Given the description of an element on the screen output the (x, y) to click on. 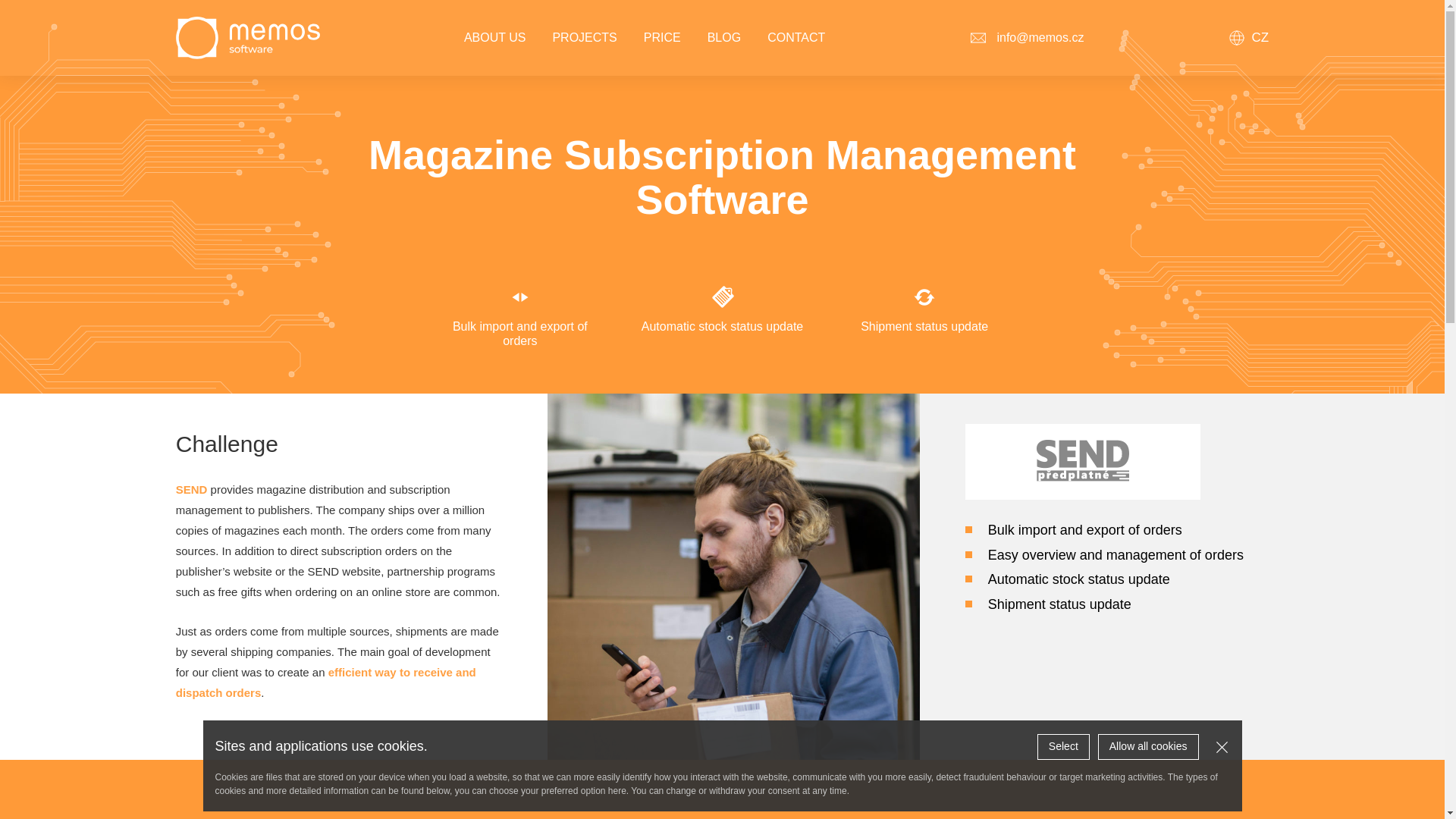
Allow all cookies (1147, 746)
BLOG (724, 37)
ABOUT US (494, 37)
PROJECTS (583, 37)
CZ (1248, 37)
PRICE (662, 37)
Select (1062, 746)
CONTACT (796, 37)
